Given the description of an element on the screen output the (x, y) to click on. 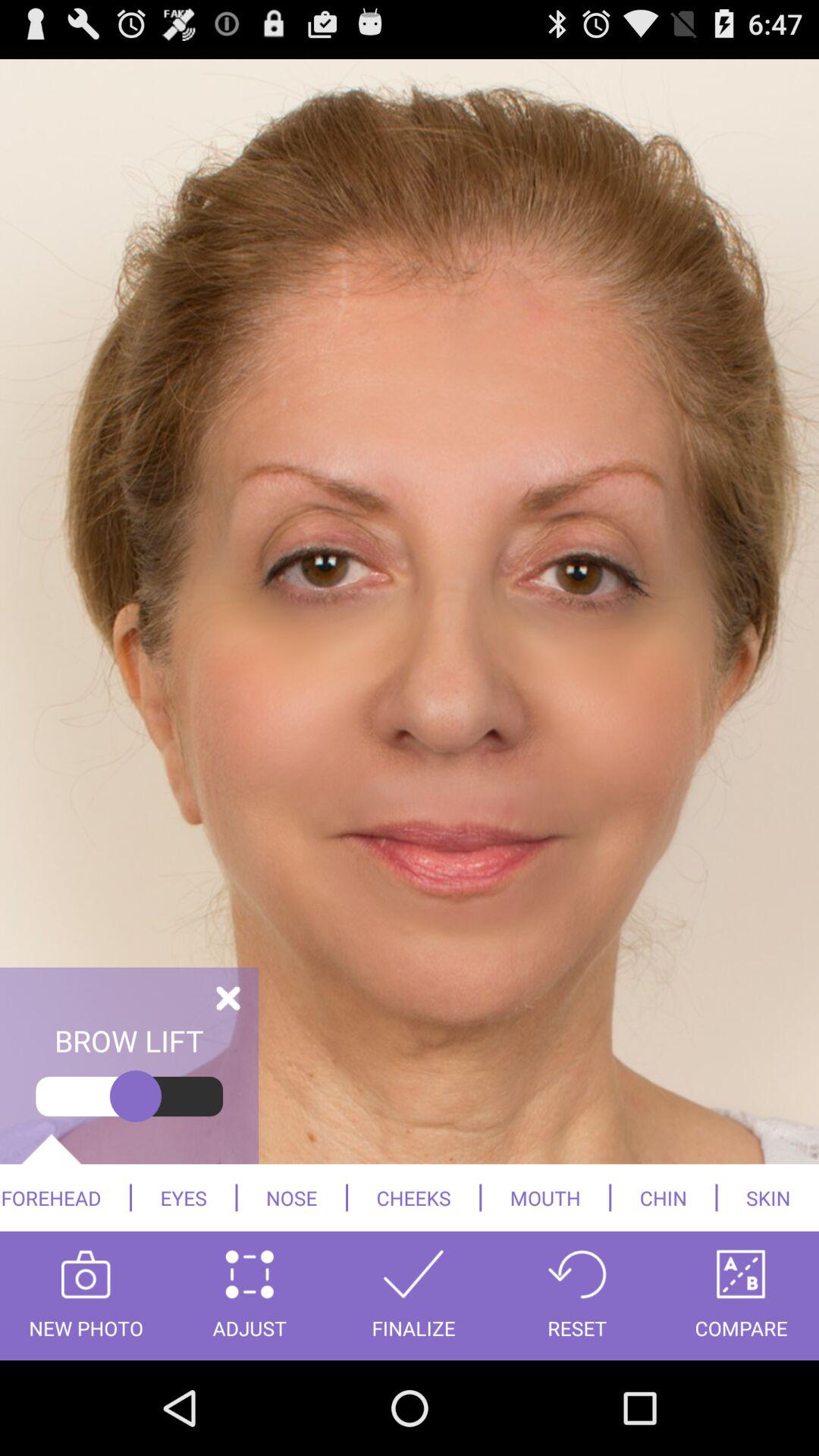
select the cheeks item (413, 1197)
